Given the description of an element on the screen output the (x, y) to click on. 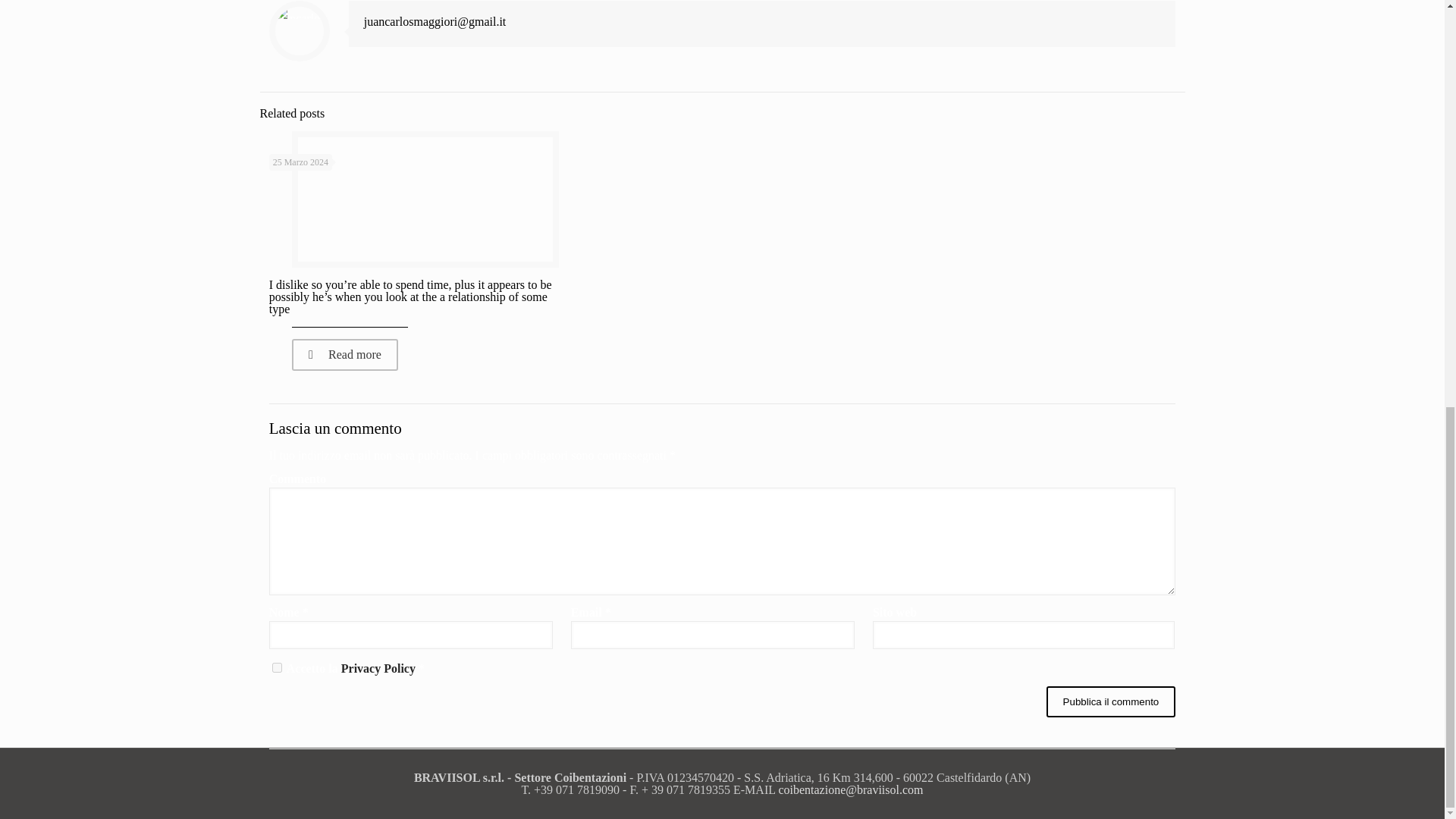
Read more (344, 355)
Pubblica il commento (1111, 701)
1 (277, 667)
Privacy Policy (377, 667)
Pubblica il commento (1111, 701)
